Given the description of an element on the screen output the (x, y) to click on. 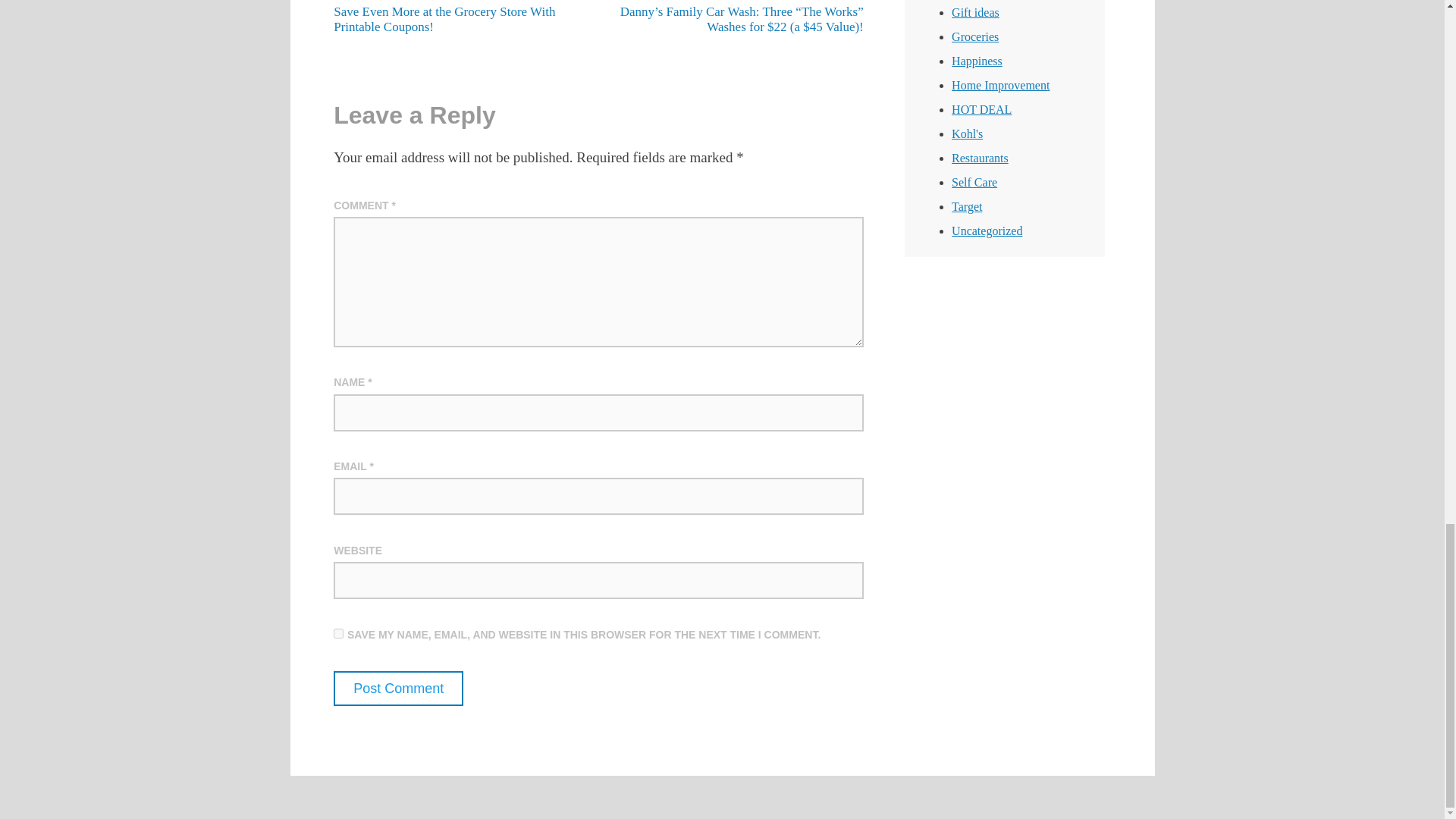
Happiness (977, 60)
Post Comment (398, 687)
Post Comment (398, 687)
Kohl's (967, 133)
Groceries (975, 36)
Home Improvement (1000, 84)
yes (338, 633)
Gift ideas (975, 11)
HOT DEAL (981, 109)
